Given the description of an element on the screen output the (x, y) to click on. 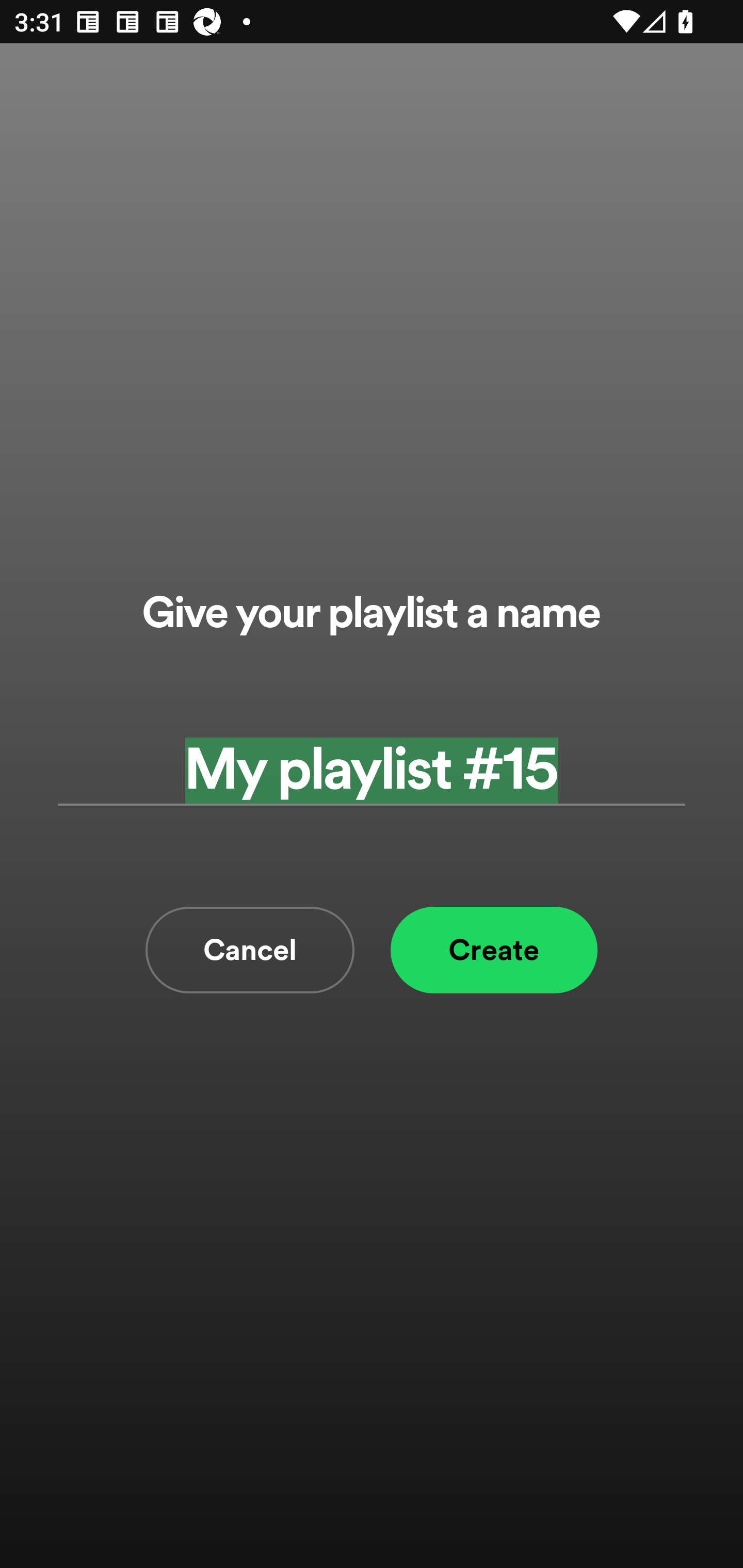
My playlist #15 Add a playlist name (371, 769)
Cancel (249, 950)
Create (493, 950)
